Given the description of an element on the screen output the (x, y) to click on. 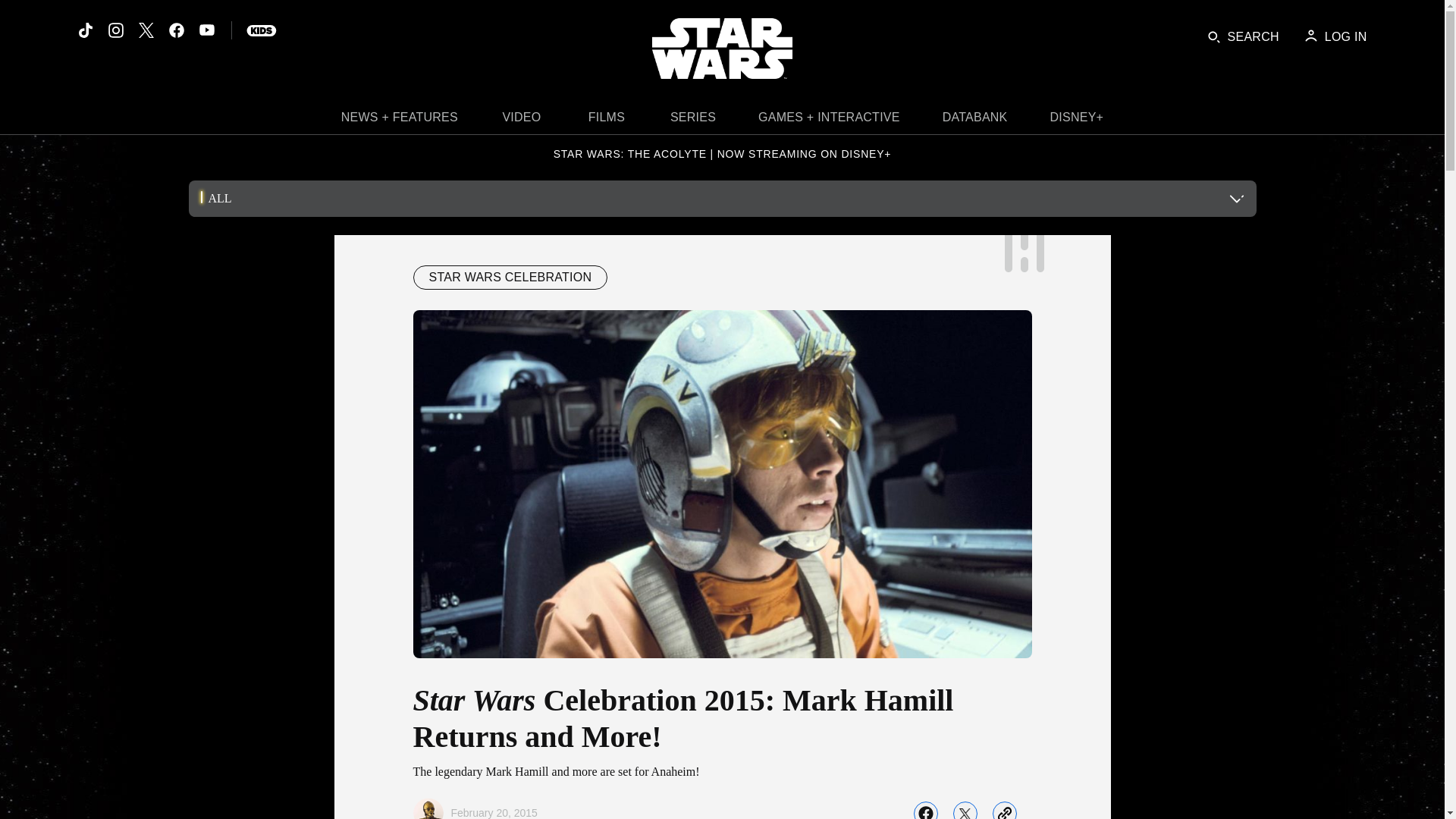
Instagram (114, 29)
FILMS (606, 121)
YouTube (206, 29)
SERIES (692, 121)
LOG IN (1334, 36)
DATABANK (975, 121)
VIDEO (521, 121)
Facebook (175, 29)
Twitter (145, 29)
